Given the description of an element on the screen output the (x, y) to click on. 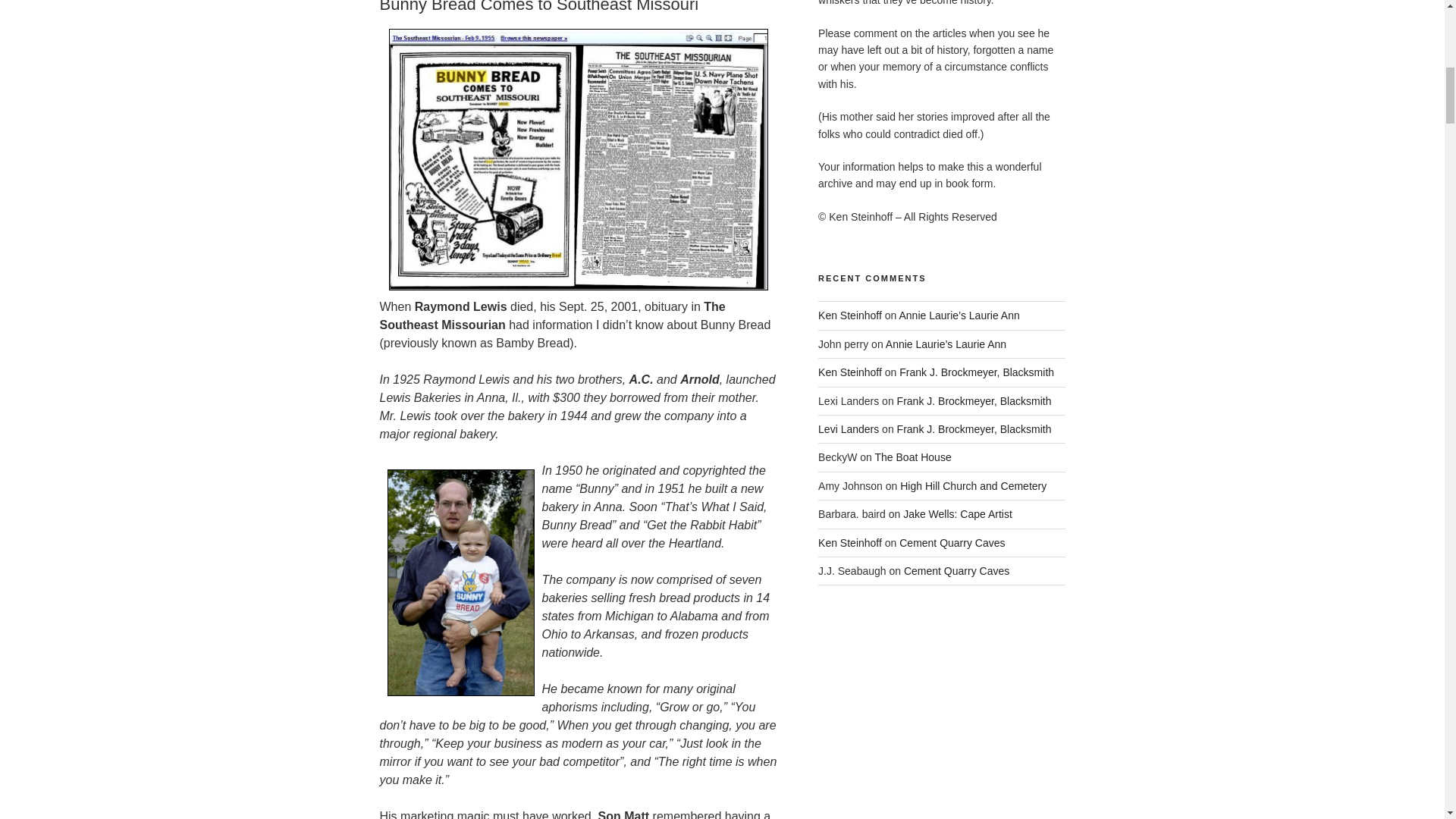
Ken Steinhoff (850, 315)
Bunny Bread Comes to SEMO 02-09-1959 (578, 159)
